Given the description of an element on the screen output the (x, y) to click on. 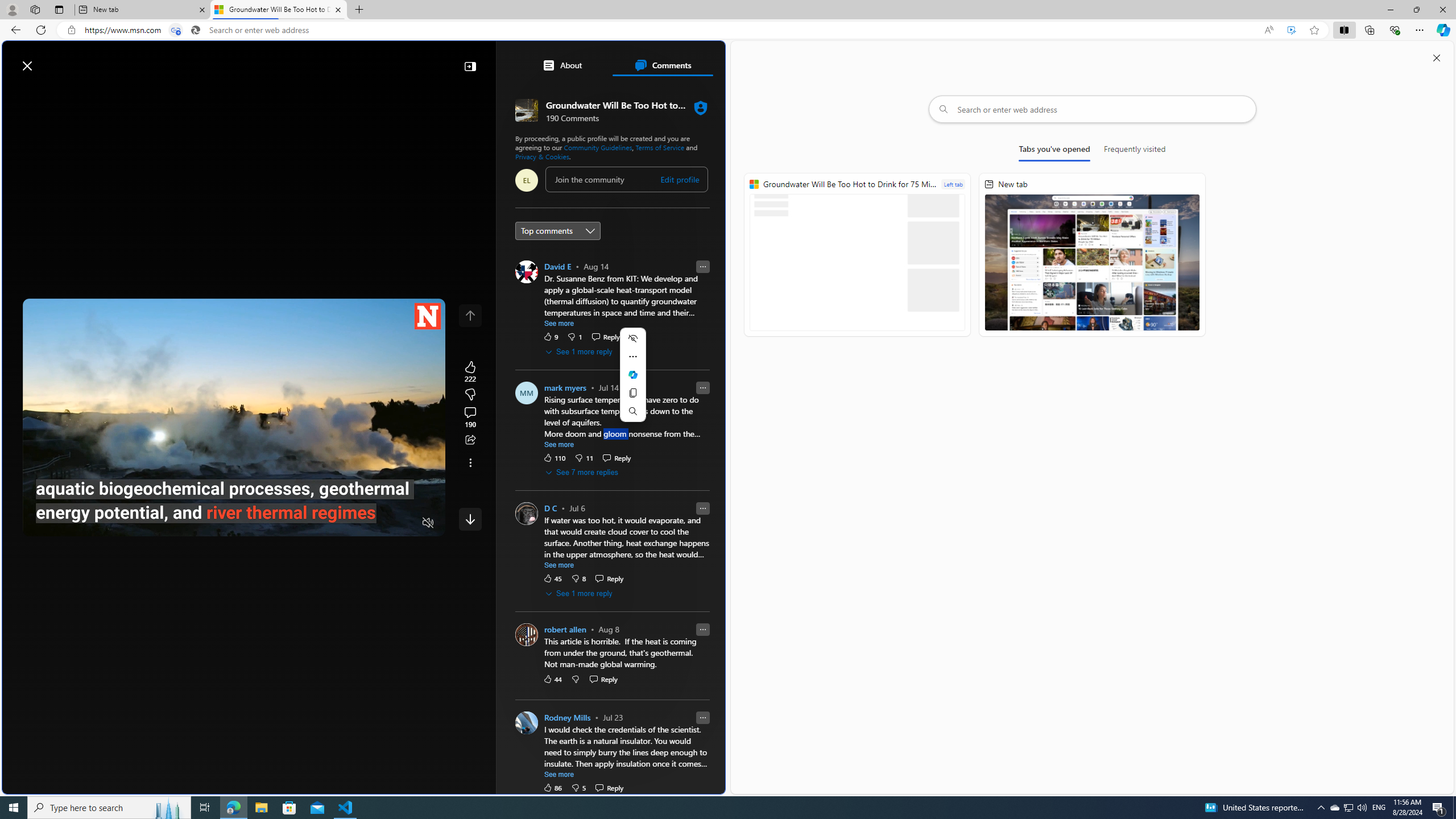
More actions (632, 356)
Share this story (469, 440)
Quality Settings (360, 523)
Collapse (469, 65)
222 Like (469, 371)
Progress Bar (234, 508)
Fullscreen (405, 523)
